Given the description of an element on the screen output the (x, y) to click on. 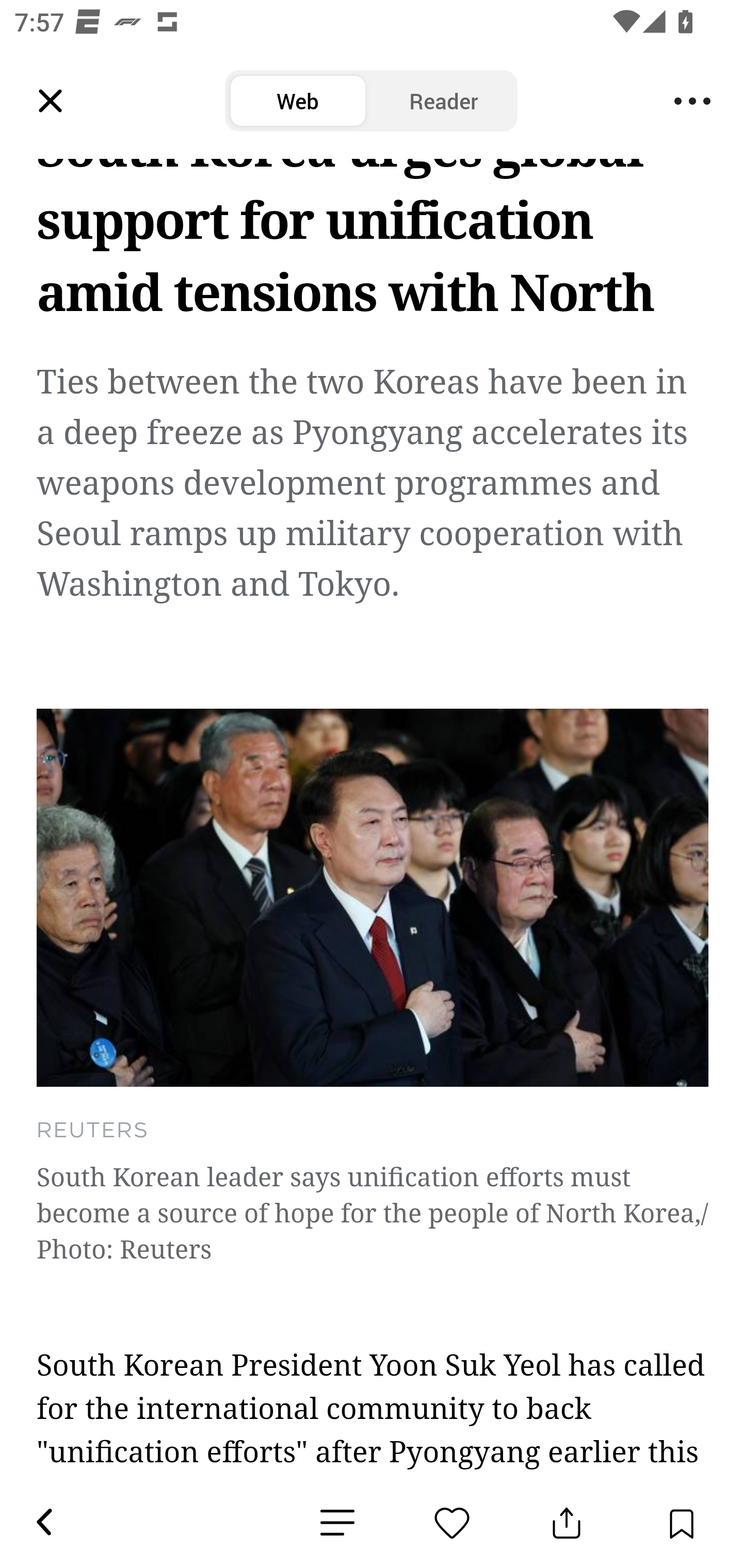
Leading Icon (50, 101)
Reader (443, 101)
Menu (692, 101)
Back Button (43, 1523)
News Detail Emotion (451, 1523)
Share Button (566, 1523)
Save Button (680, 1523)
News Detail Emotion (337, 1523)
